Given the description of an element on the screen output the (x, y) to click on. 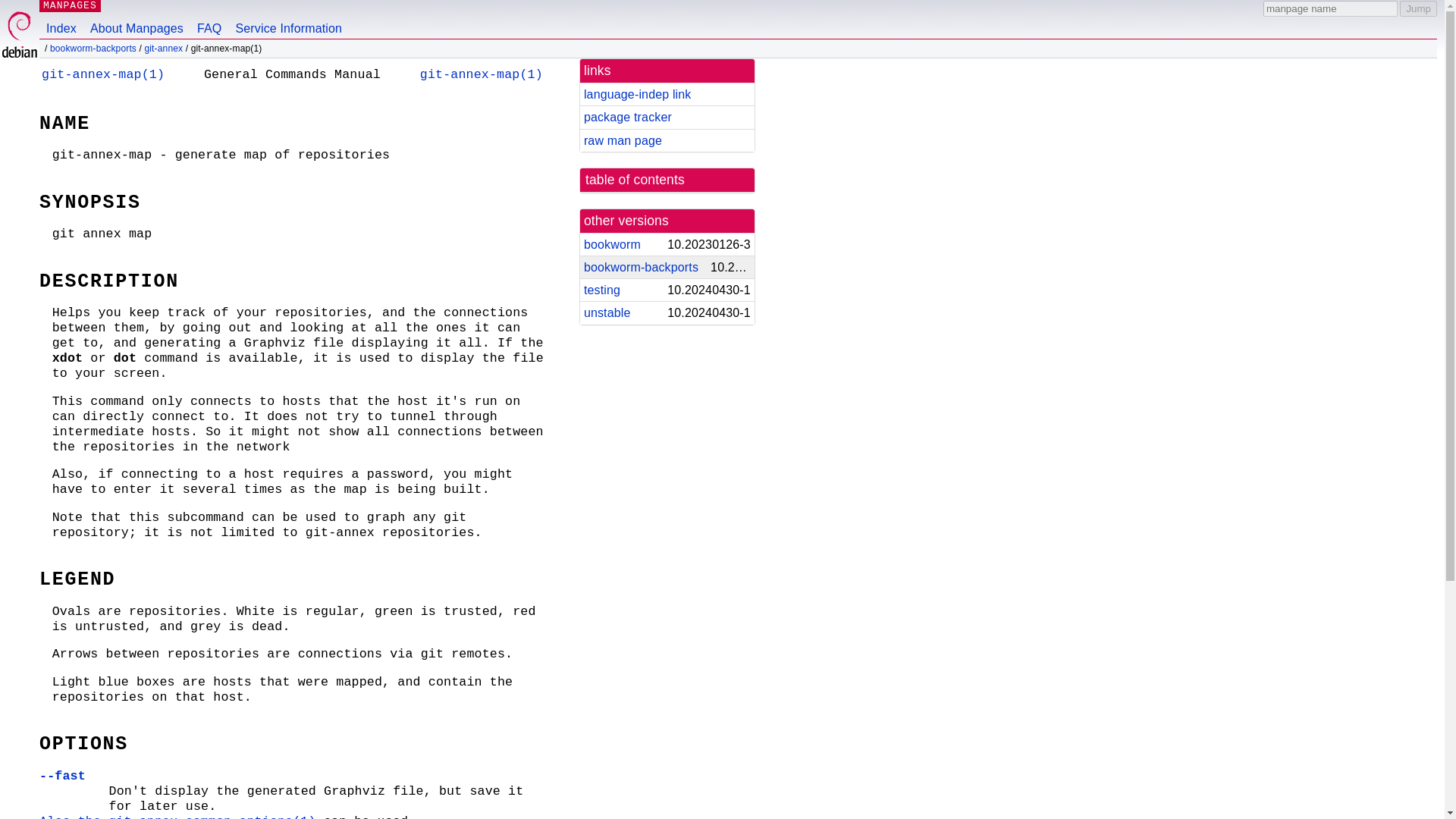
Jump (1418, 8)
About Manpages (136, 19)
bookworm-backports (640, 267)
Service Information (288, 19)
language-indep link (637, 93)
FAQ (209, 19)
bookworm (611, 244)
--fast (62, 775)
unstable (606, 312)
git-annex (163, 48)
raw man page (622, 140)
10.20240430-1 (703, 312)
Index (60, 19)
Jump (1418, 8)
Also the (73, 816)
